Given the description of an element on the screen output the (x, y) to click on. 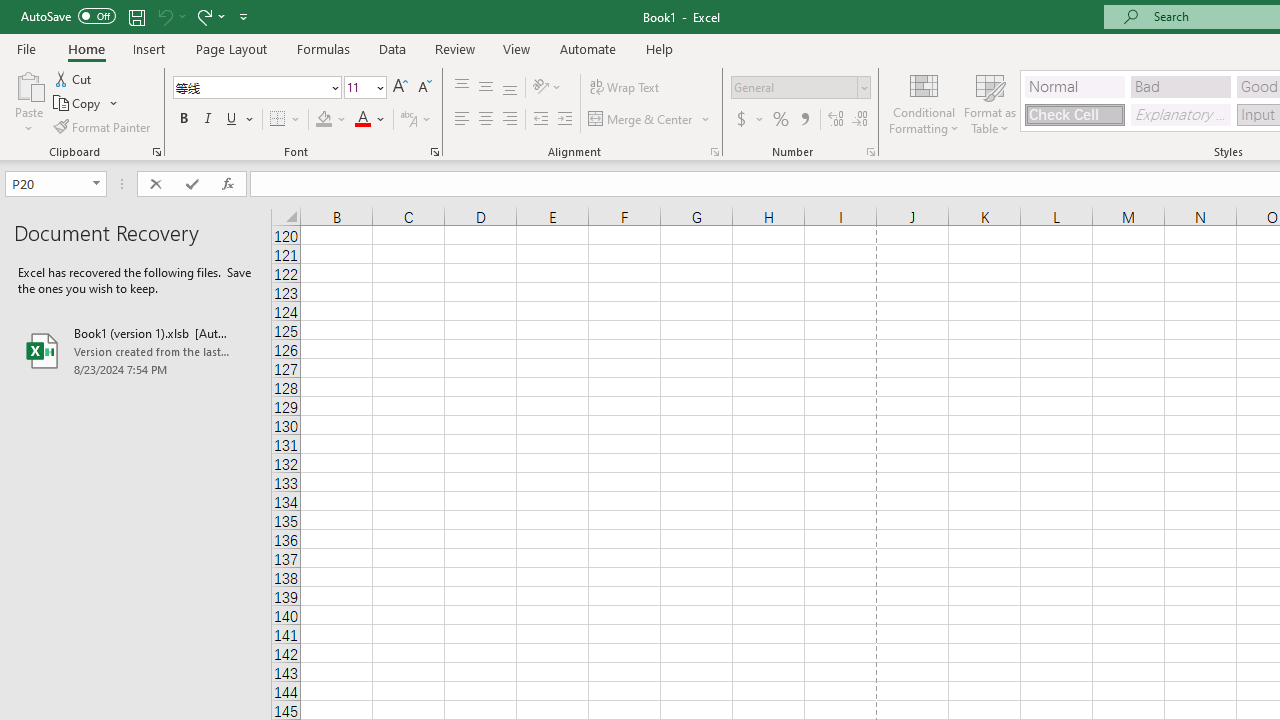
Decrease Font Size (424, 87)
Font (250, 87)
Bad (1180, 86)
Format Painter (103, 126)
Decrease Indent (540, 119)
Wrap Text (624, 87)
Middle Align (485, 87)
Merge & Center (641, 119)
Align Left (461, 119)
Borders (285, 119)
Fill Color RGB(255, 255, 0) (324, 119)
Bottom Align (509, 87)
